Given the description of an element on the screen output the (x, y) to click on. 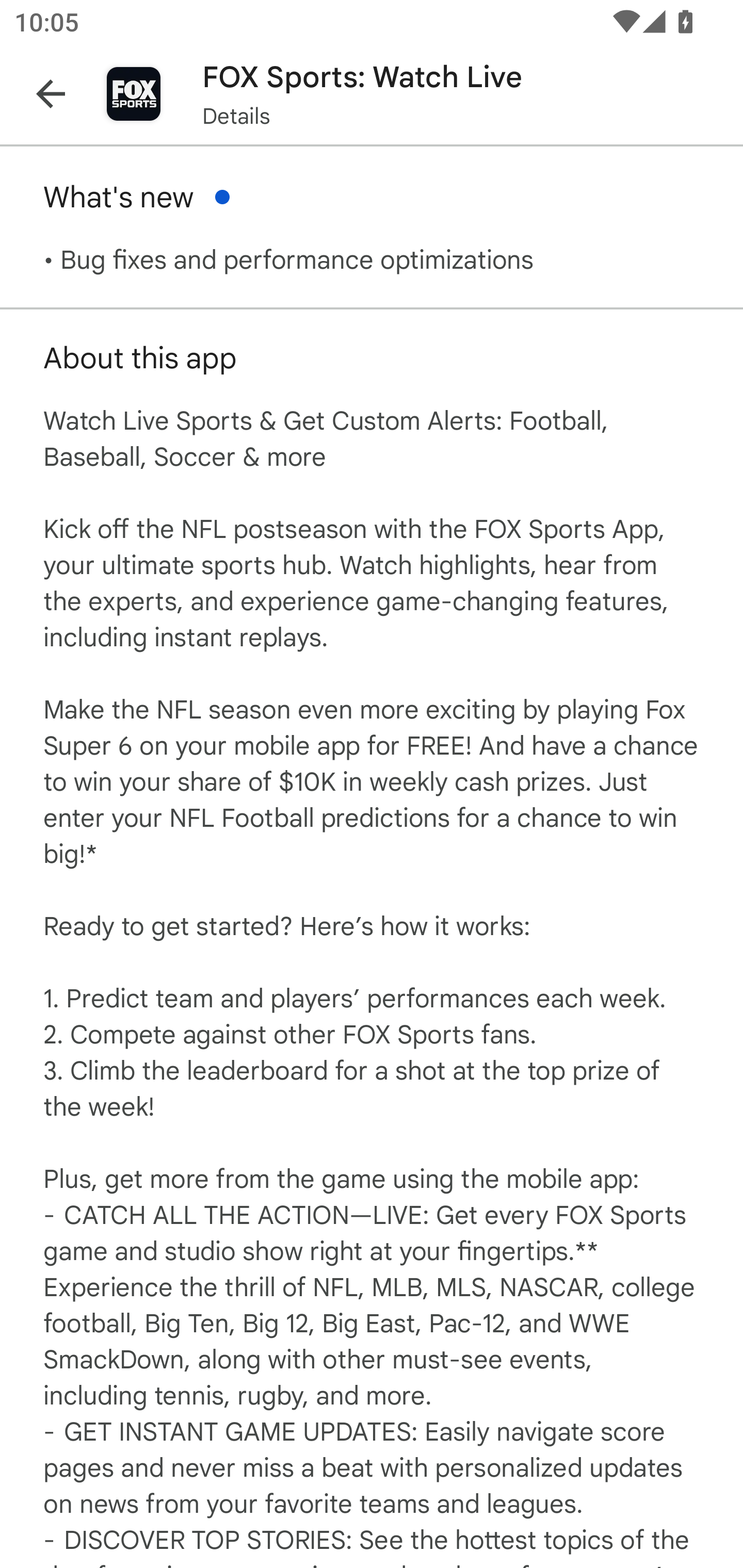
Navigate up (50, 93)
